Given the description of an element on the screen output the (x, y) to click on. 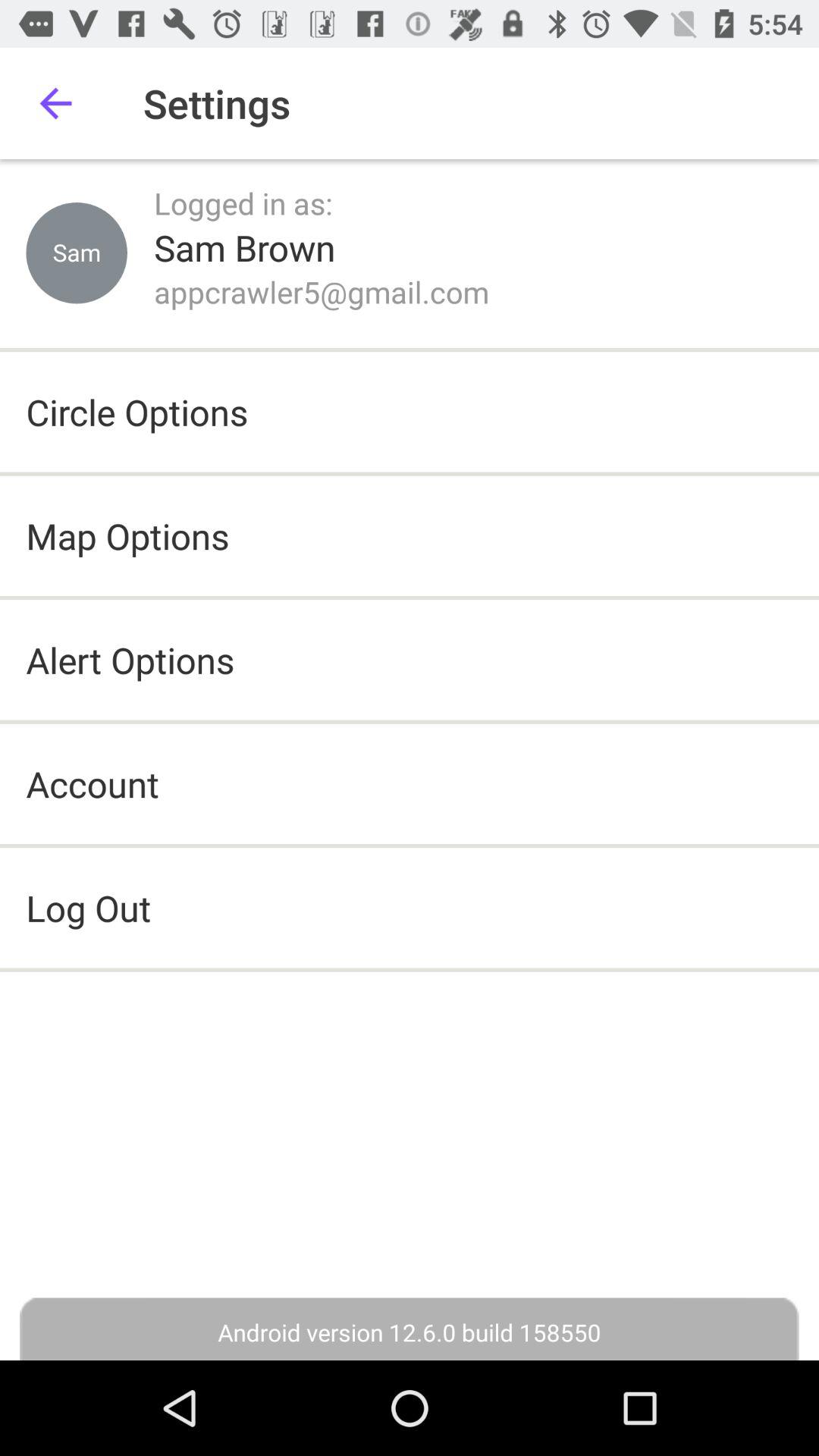
jump until log out (409, 908)
